Given the description of an element on the screen output the (x, y) to click on. 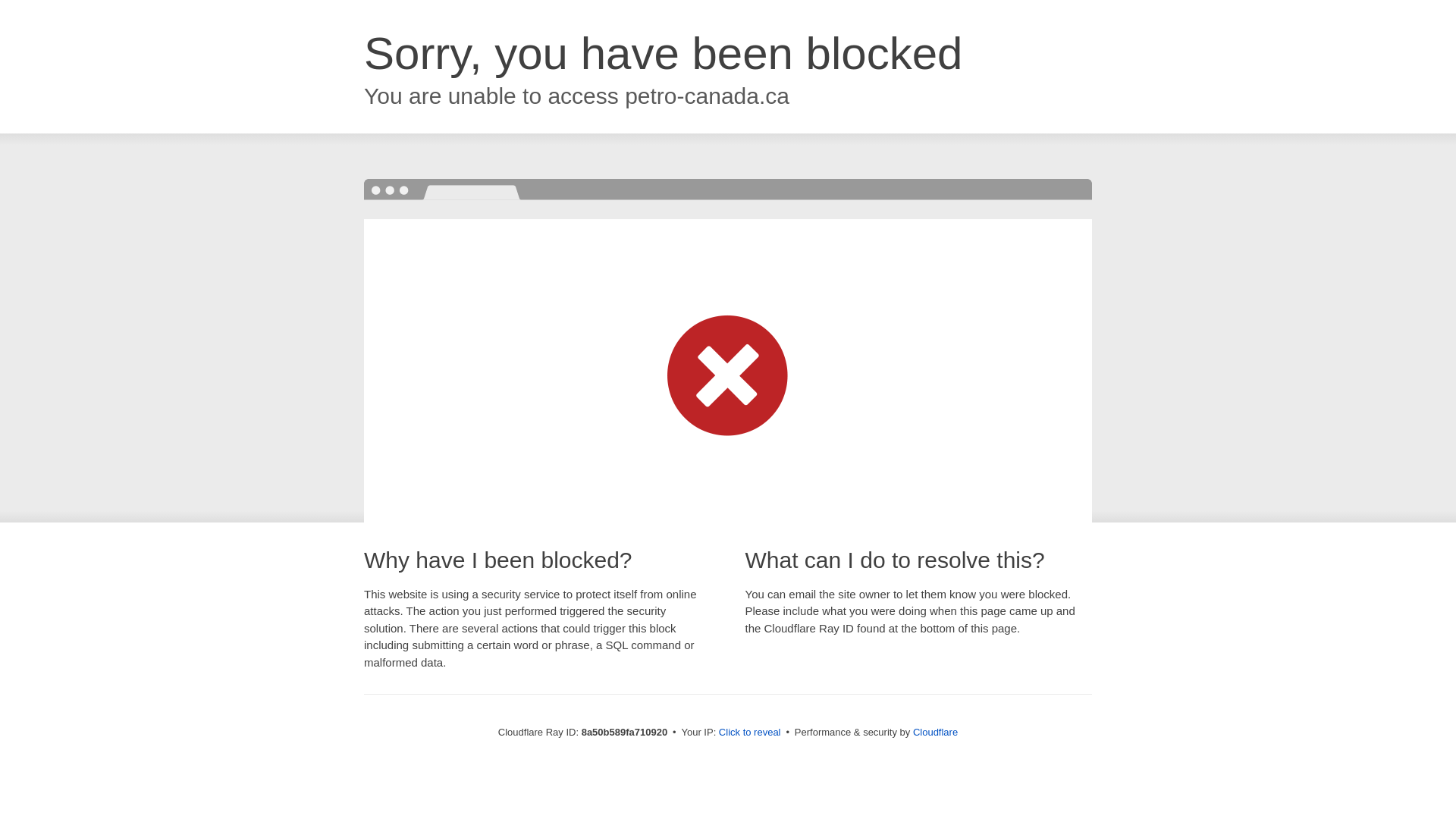
Cloudflare (935, 731)
Click to reveal (749, 732)
